Given the description of an element on the screen output the (x, y) to click on. 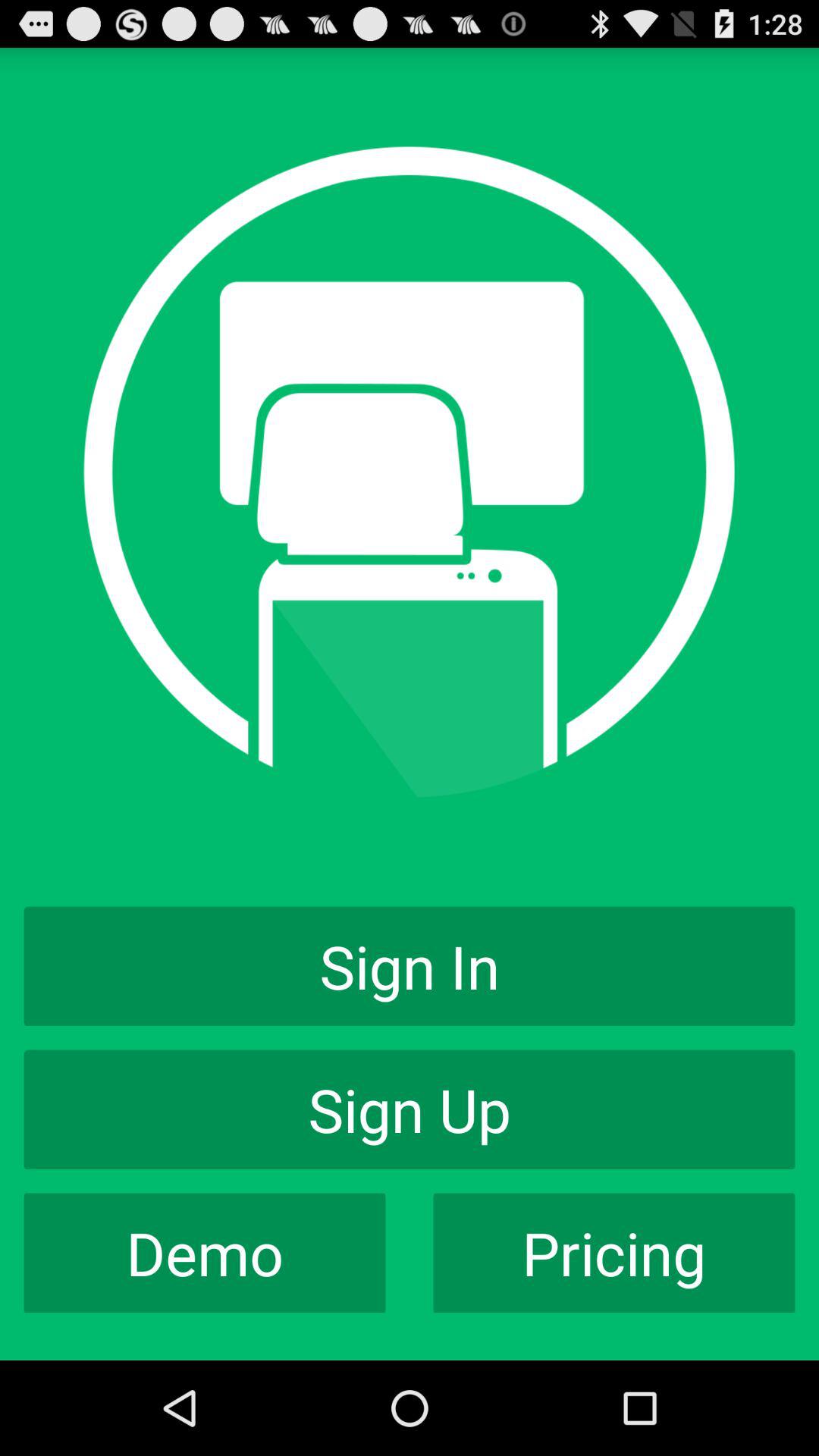
launch app below the sign in (409, 1109)
